Given the description of an element on the screen output the (x, y) to click on. 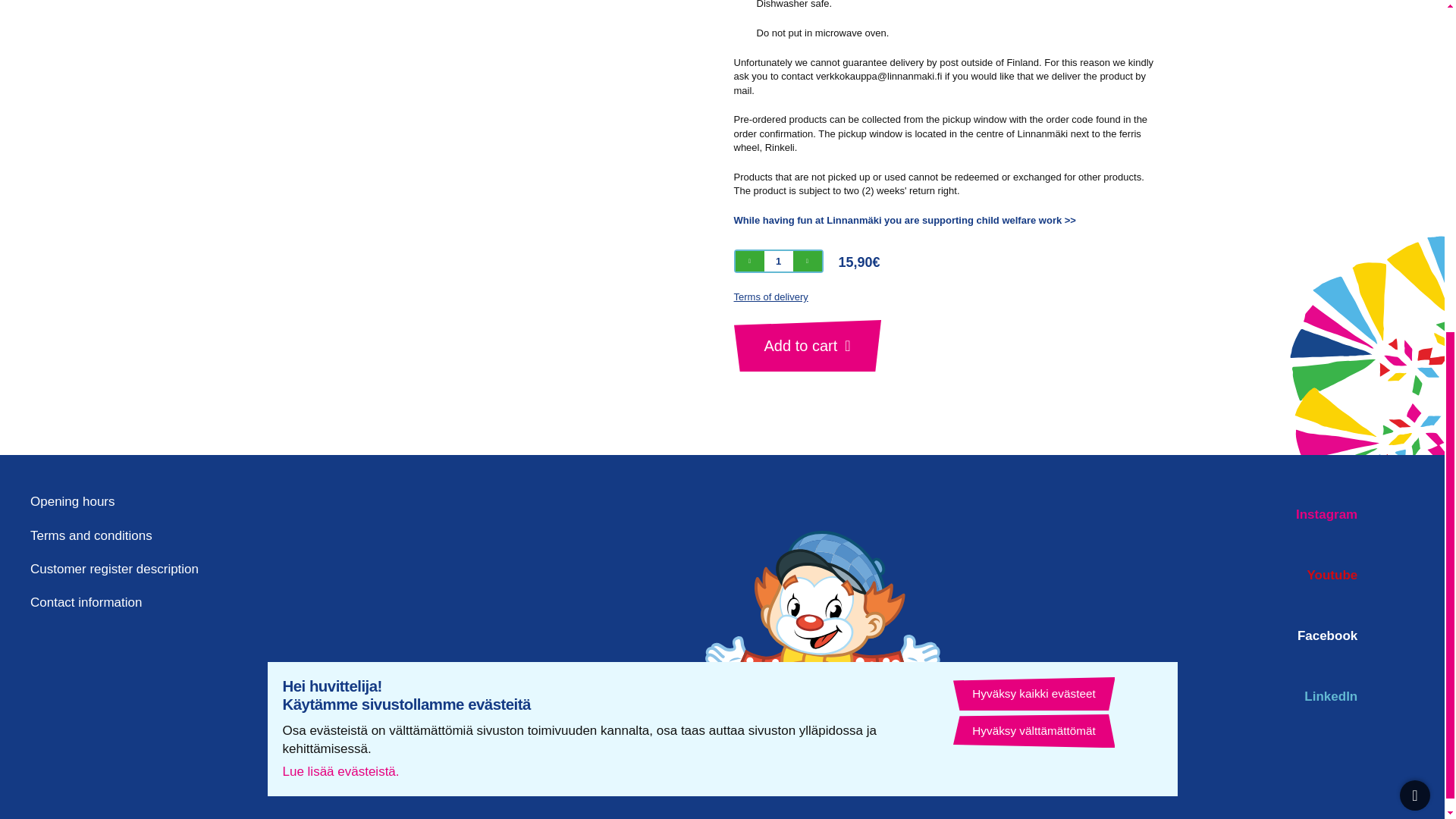
1 (778, 260)
Children's Day Foundation (904, 220)
